Given the description of an element on the screen output the (x, y) to click on. 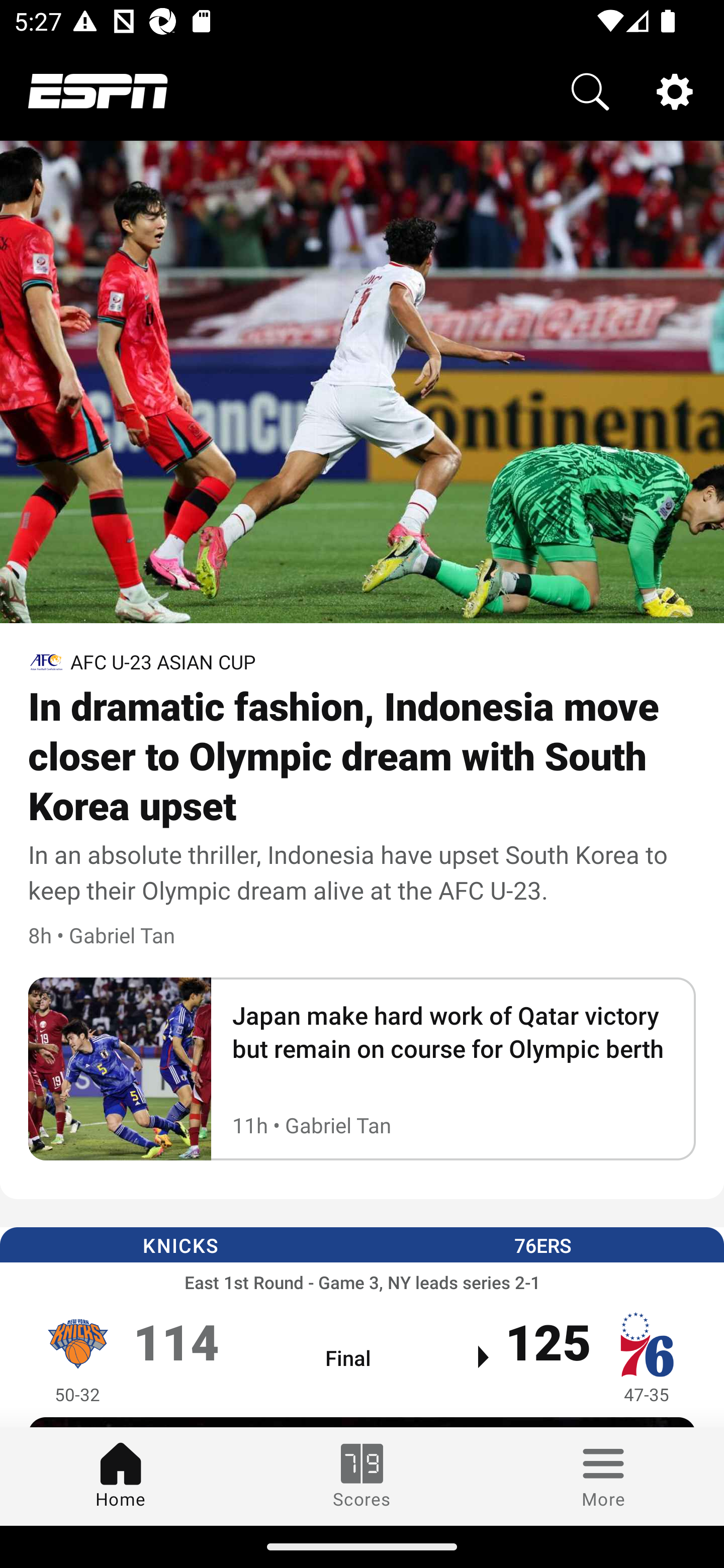
Search (590, 90)
Settings (674, 90)
Scores (361, 1475)
More (603, 1475)
